Given the description of an element on the screen output the (x, y) to click on. 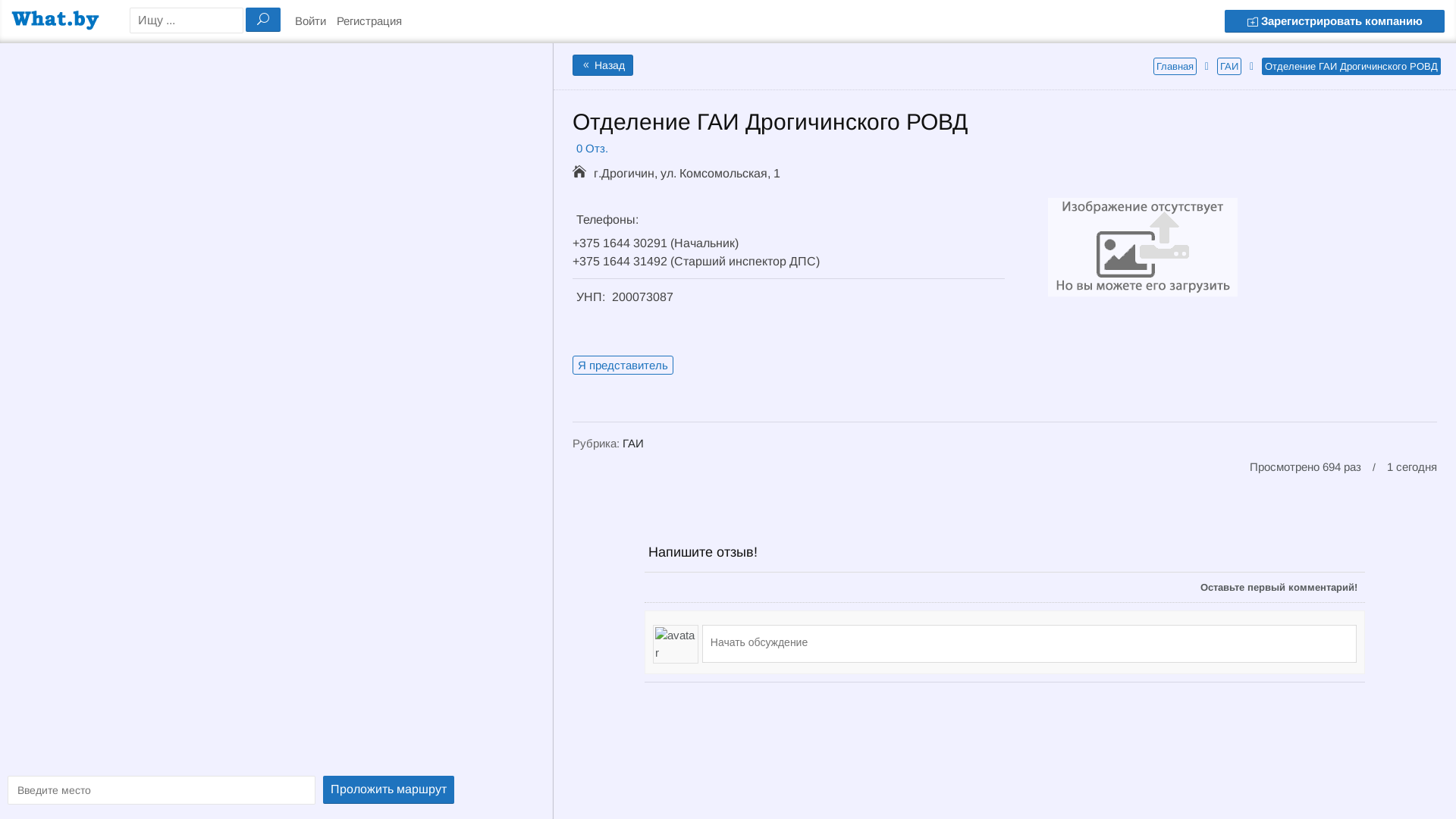
U Element type: text (262, 19)
